Given the description of an element on the screen output the (x, y) to click on. 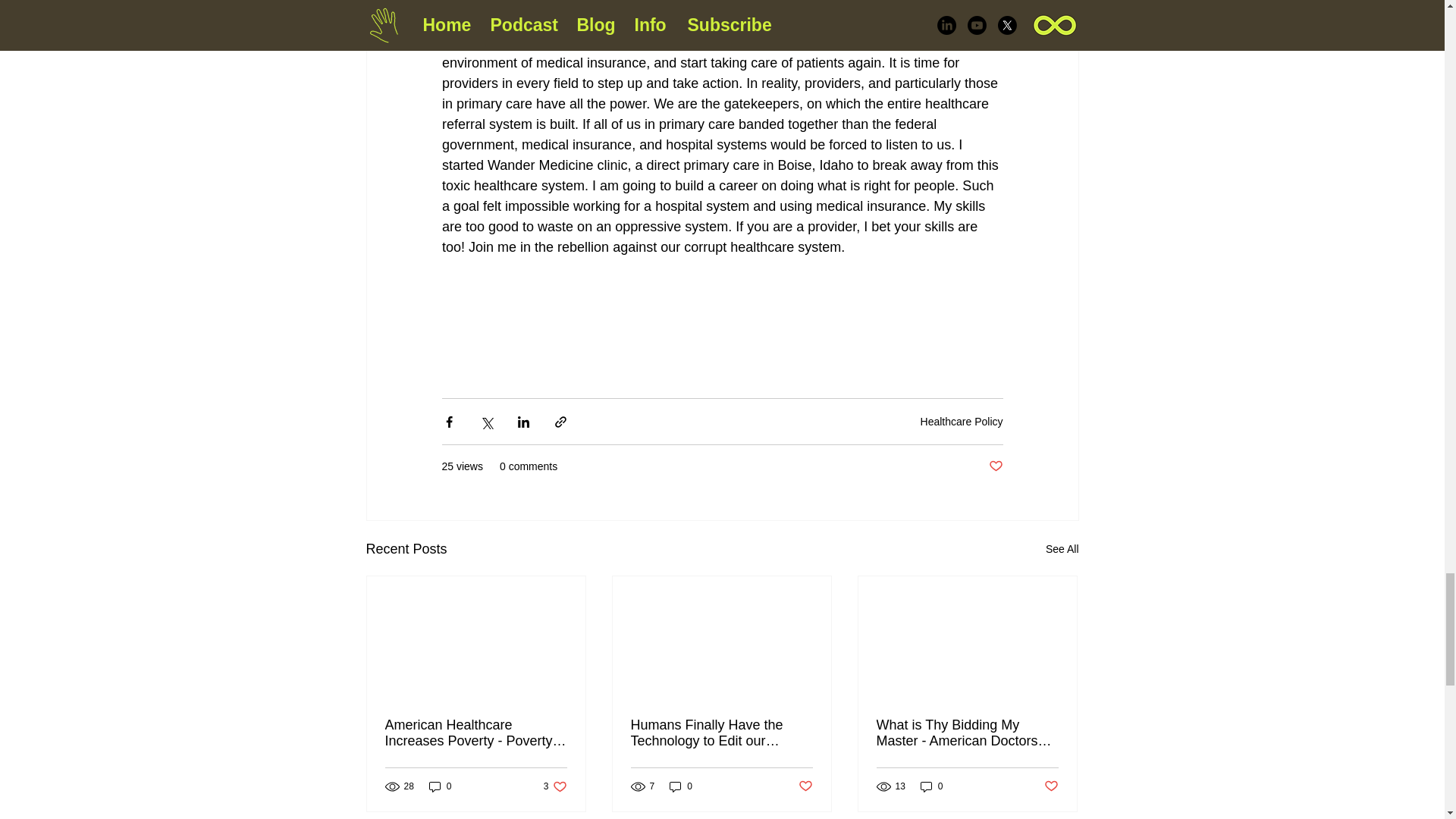
0 (681, 786)
Post not marked as liked (555, 786)
Humans Finally Have the Technology to Edit our Genome (804, 785)
Post not marked as liked (721, 733)
0 (995, 466)
Healthcare Policy (440, 786)
See All (961, 421)
Post not marked as liked (1061, 549)
0 (1050, 785)
